Given the description of an element on the screen output the (x, y) to click on. 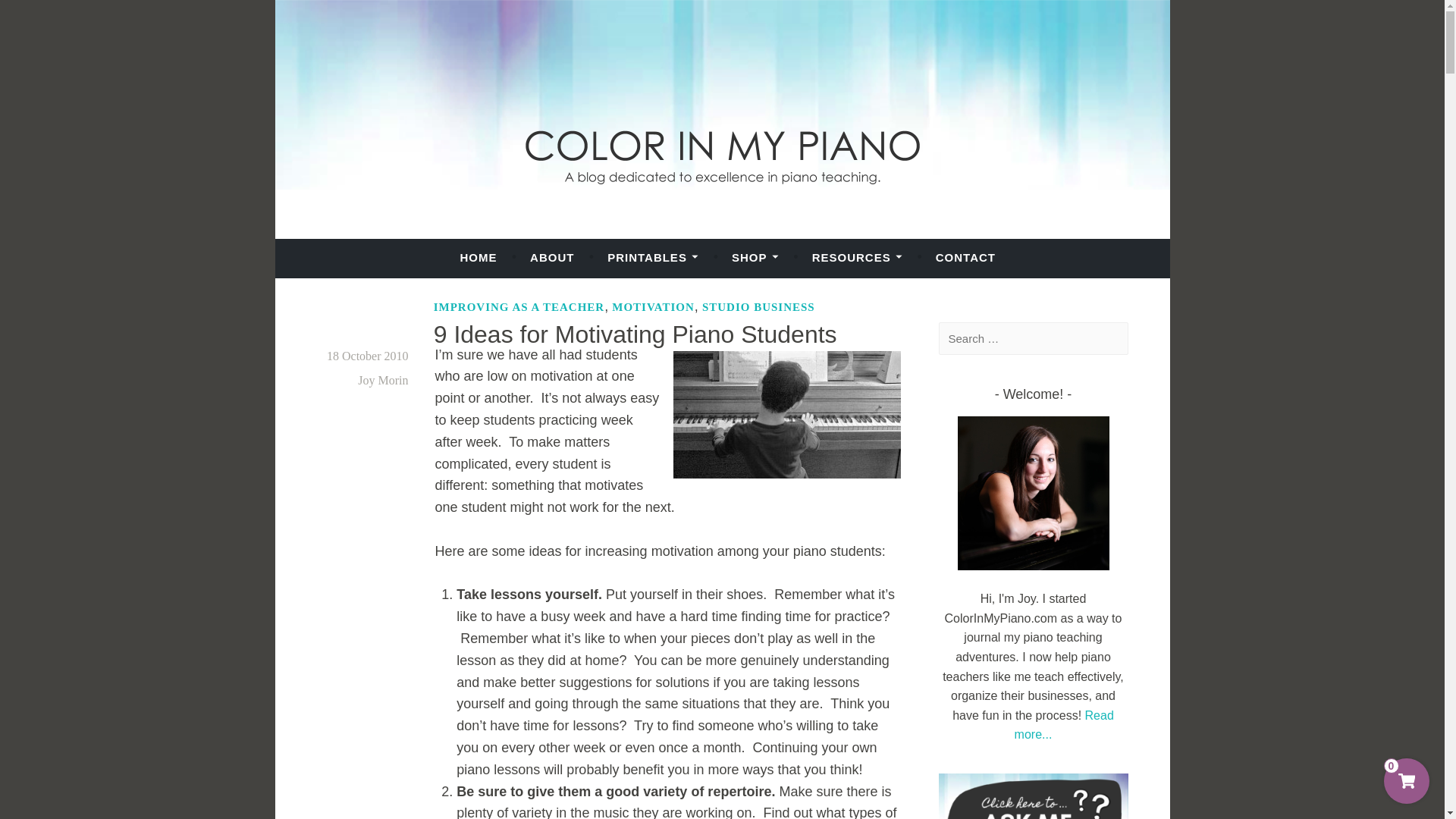
RESOURCES (857, 257)
STUDIO BUSINESS (758, 307)
IMPROVING AS A TEACHER (519, 307)
HOME (478, 257)
18 October 2010 (367, 355)
SHOP (755, 257)
Joy Morin (382, 379)
PRINTABLES (652, 257)
ABOUT (551, 257)
Color In My Piano (409, 250)
CONTACT (965, 257)
MOTIVATION (652, 307)
